Given the description of an element on the screen output the (x, y) to click on. 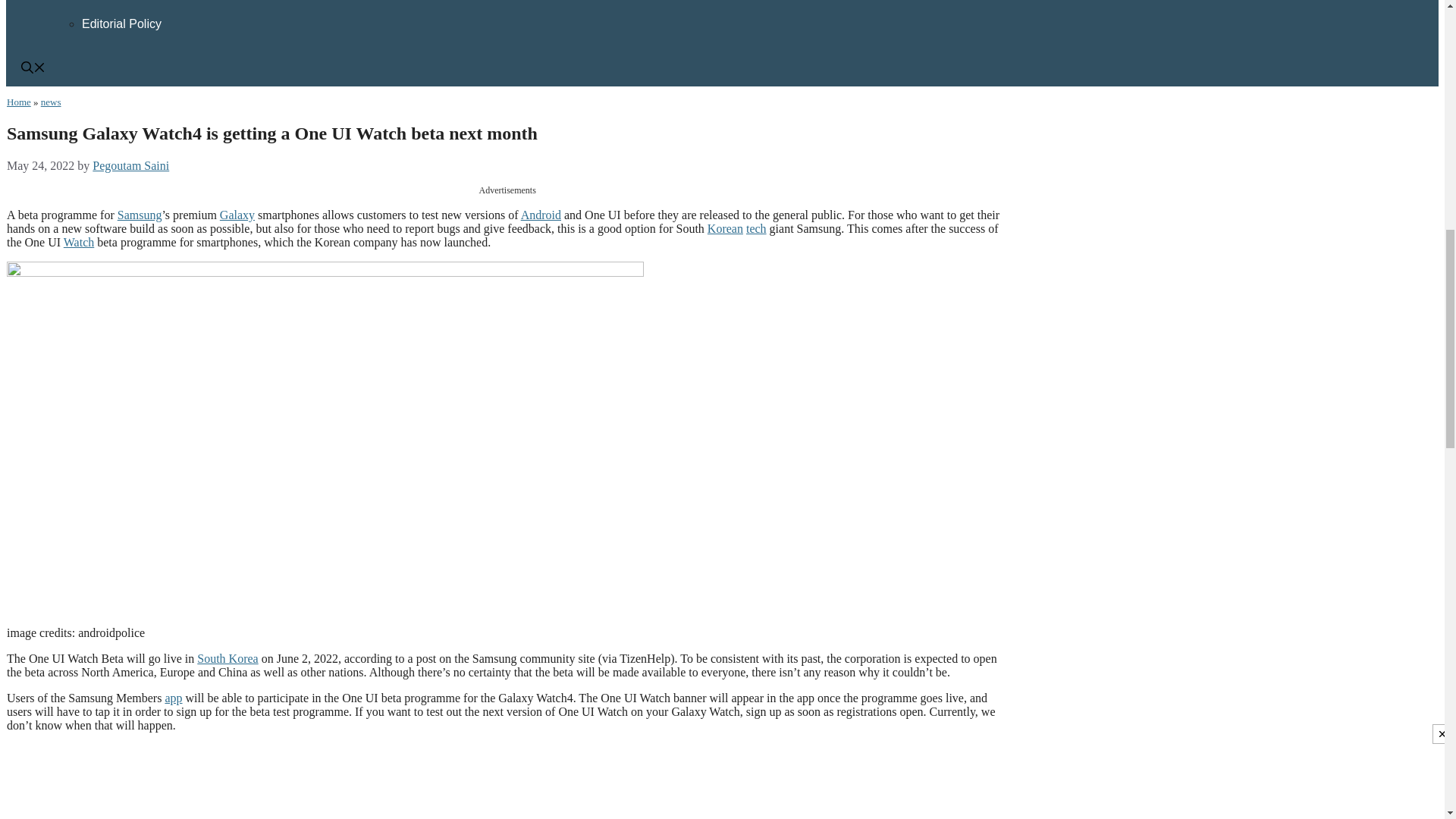
tech (756, 228)
Pegoutam Saini (130, 164)
Editorial Policy (121, 23)
enhancements (358, 813)
Galaxy (236, 214)
Watch (79, 241)
Home (18, 101)
View all posts by Pegoutam Saini (130, 164)
South Korea (226, 658)
Samsung (139, 214)
app (173, 697)
Korean (724, 228)
news (50, 101)
Android (540, 214)
